Given the description of an element on the screen output the (x, y) to click on. 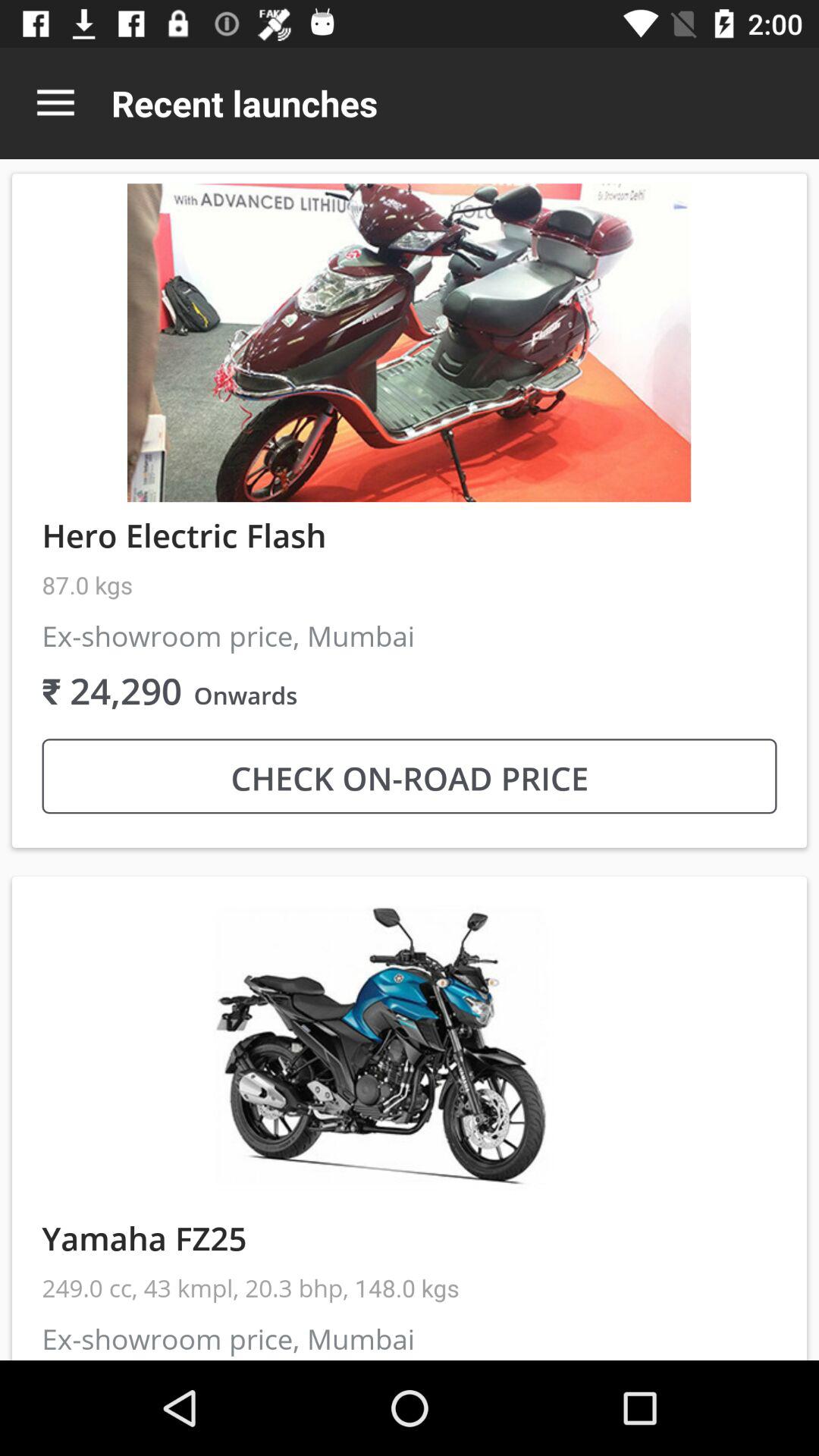
click check on road icon (409, 775)
